Given the description of an element on the screen output the (x, y) to click on. 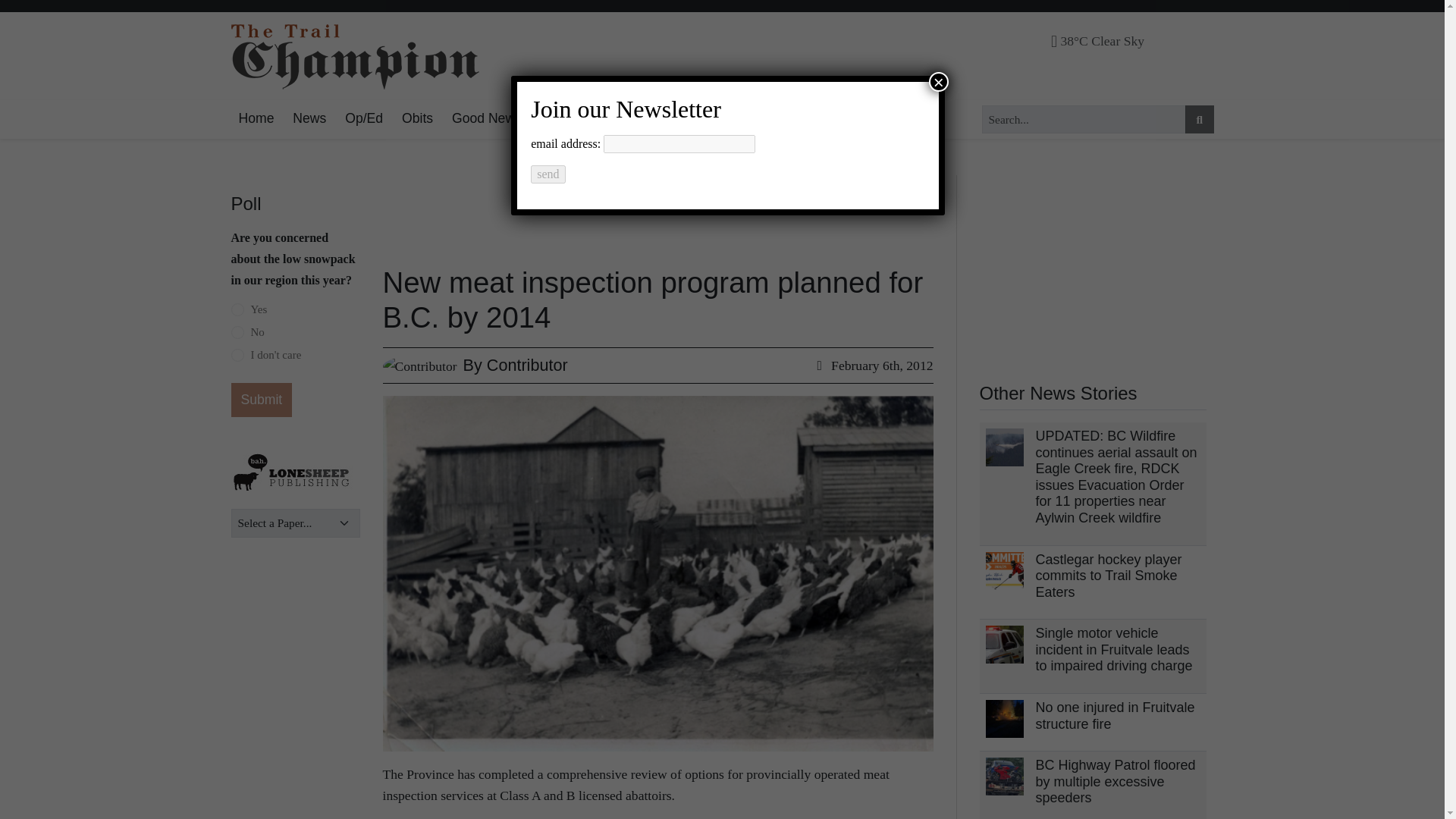
BC Highway Patrol floored by multiple excessive speeders (1115, 781)
Castlegar hockey player commits to Trail Smoke Eaters (1108, 575)
Obits (417, 118)
send (547, 174)
3rd party ad content (1093, 269)
Home (255, 118)
News (309, 118)
gpoll135bfdf59 (237, 332)
3rd party ad content (637, 211)
Submit (261, 400)
gpoll1892df81e (237, 309)
Good News Sunday (511, 118)
gpoll14070505e (237, 355)
